Given the description of an element on the screen output the (x, y) to click on. 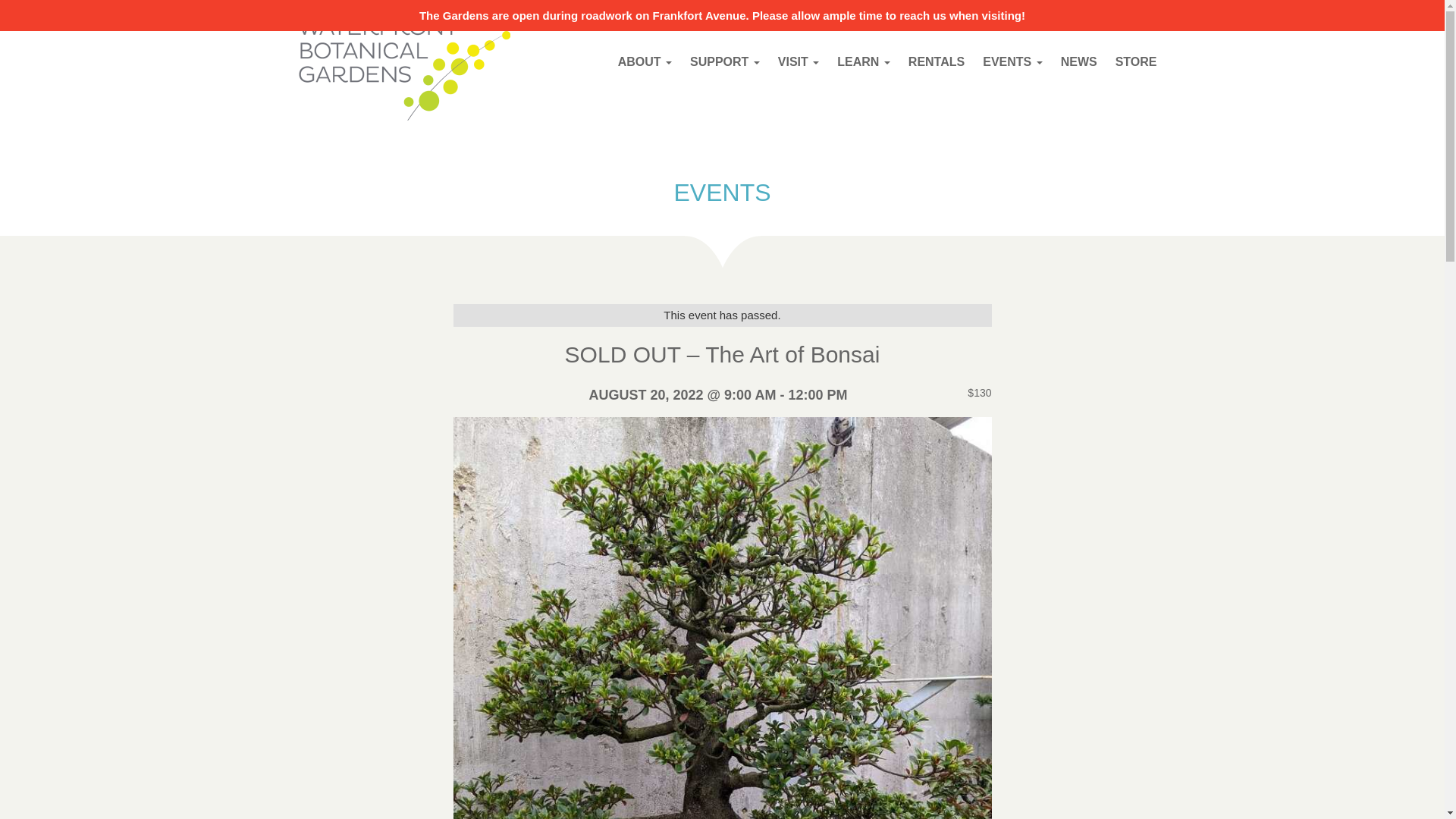
EVENTS (1012, 61)
About (644, 61)
EVENTS (721, 192)
Visit (798, 61)
NEWS (1078, 61)
LEARN (863, 61)
Support (724, 61)
LEARN (863, 61)
ABOUT (644, 61)
VISIT (798, 61)
SUPPORT (724, 61)
RENTALS (936, 61)
STORE (1136, 61)
